Given the description of an element on the screen output the (x, y) to click on. 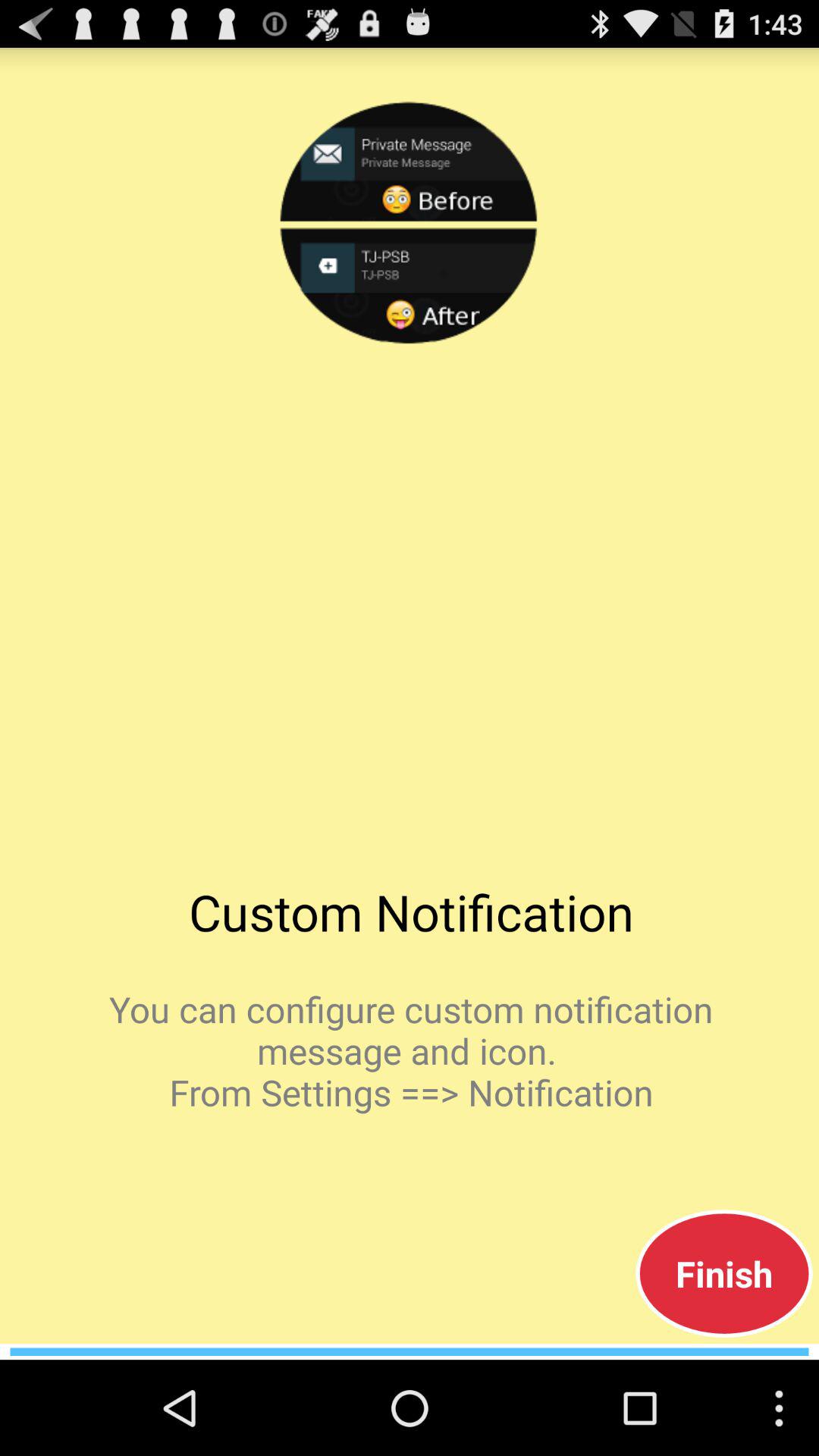
flip until finish button (723, 1273)
